Given the description of an element on the screen output the (x, y) to click on. 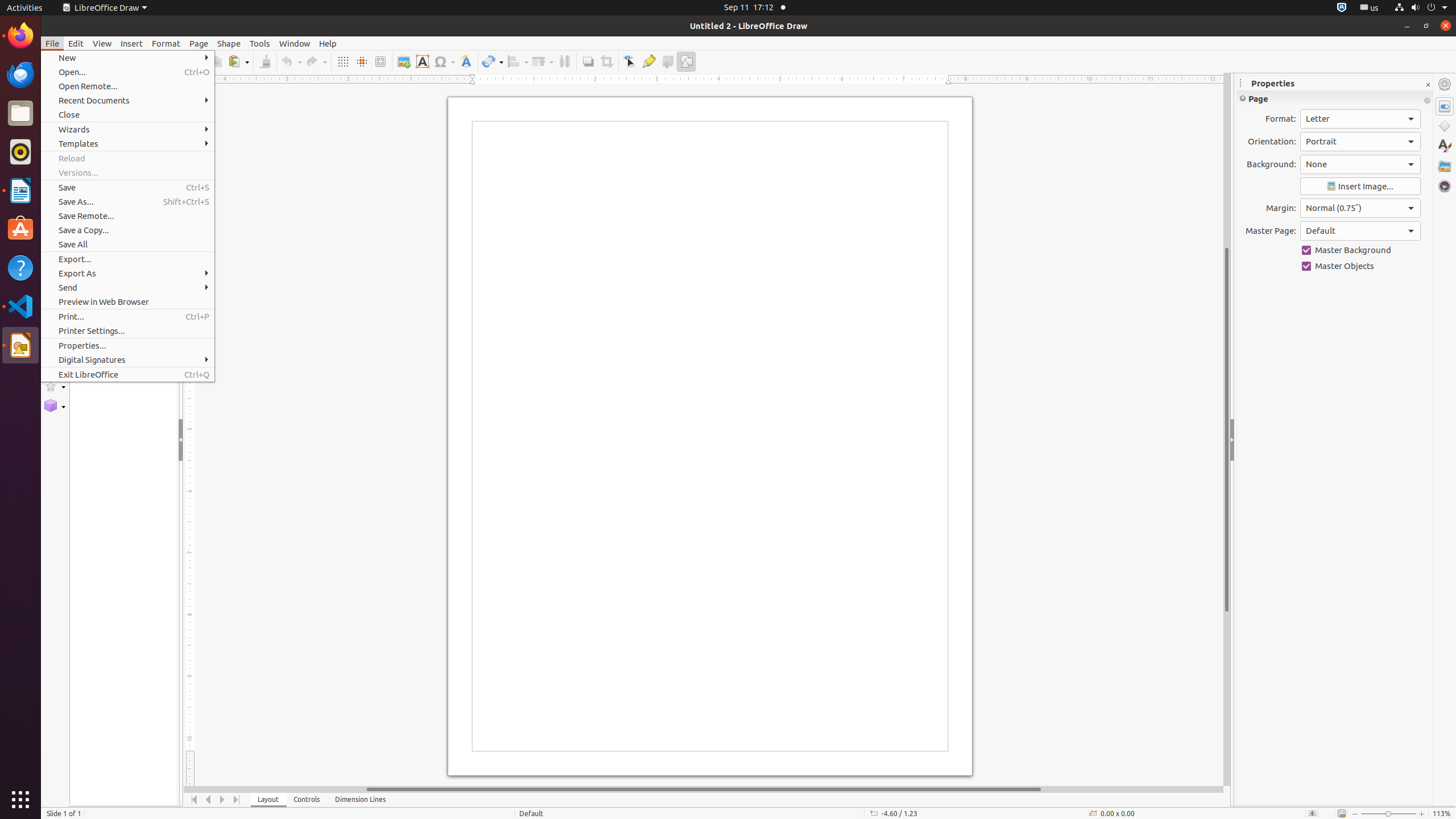
Open Remote... Element type: menu-item (127, 86)
Help Element type: menu (327, 43)
Preview in Web Browser Element type: menu-item (127, 301)
Page Element type: menu (198, 43)
Distribution Element type: push-button (564, 61)
